Given the description of an element on the screen output the (x, y) to click on. 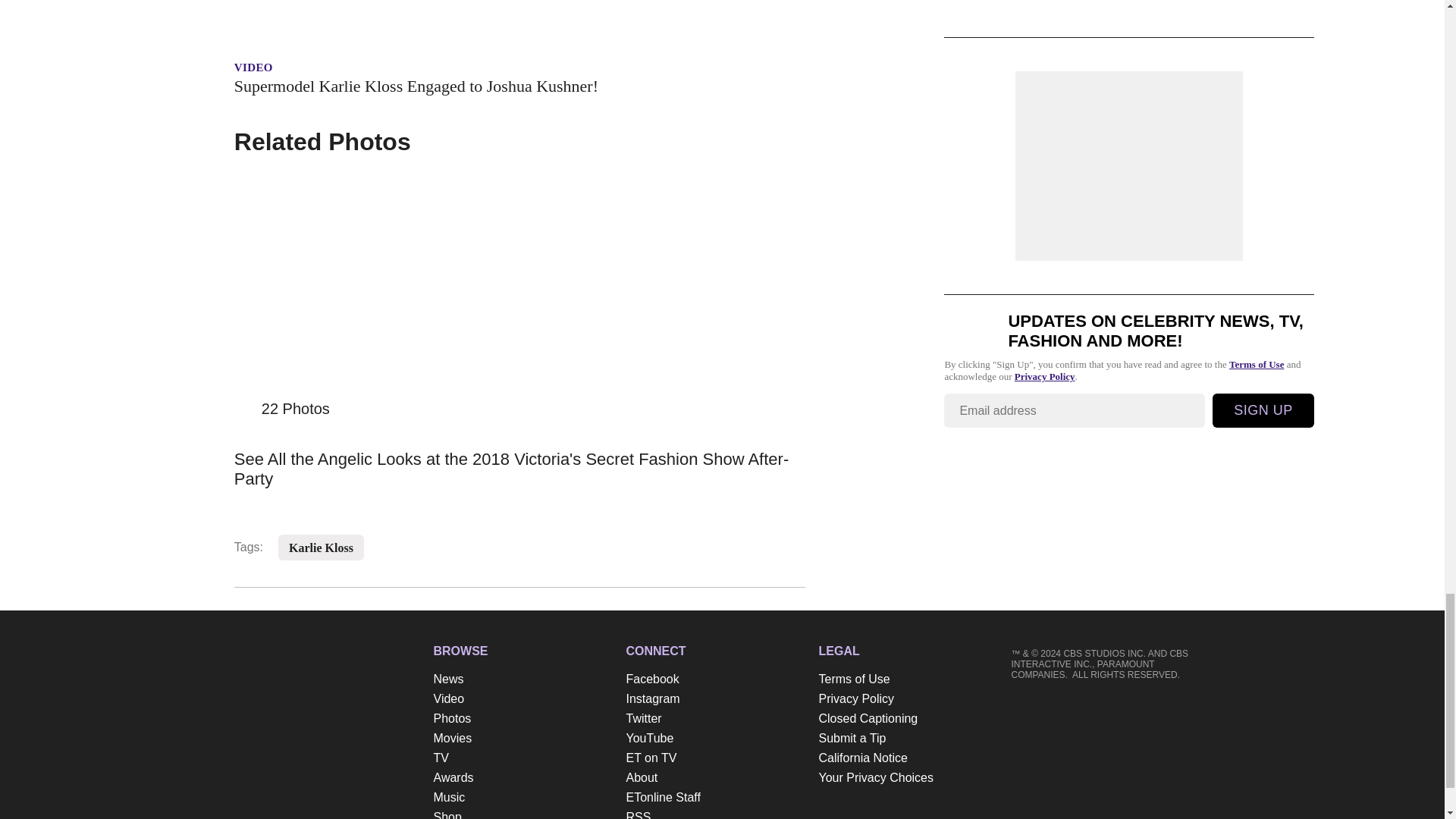
Karlie Kloss (320, 548)
Supermodel Karlie Kloss Engaged to Joshua Kushner! (519, 86)
